Given the description of an element on the screen output the (x, y) to click on. 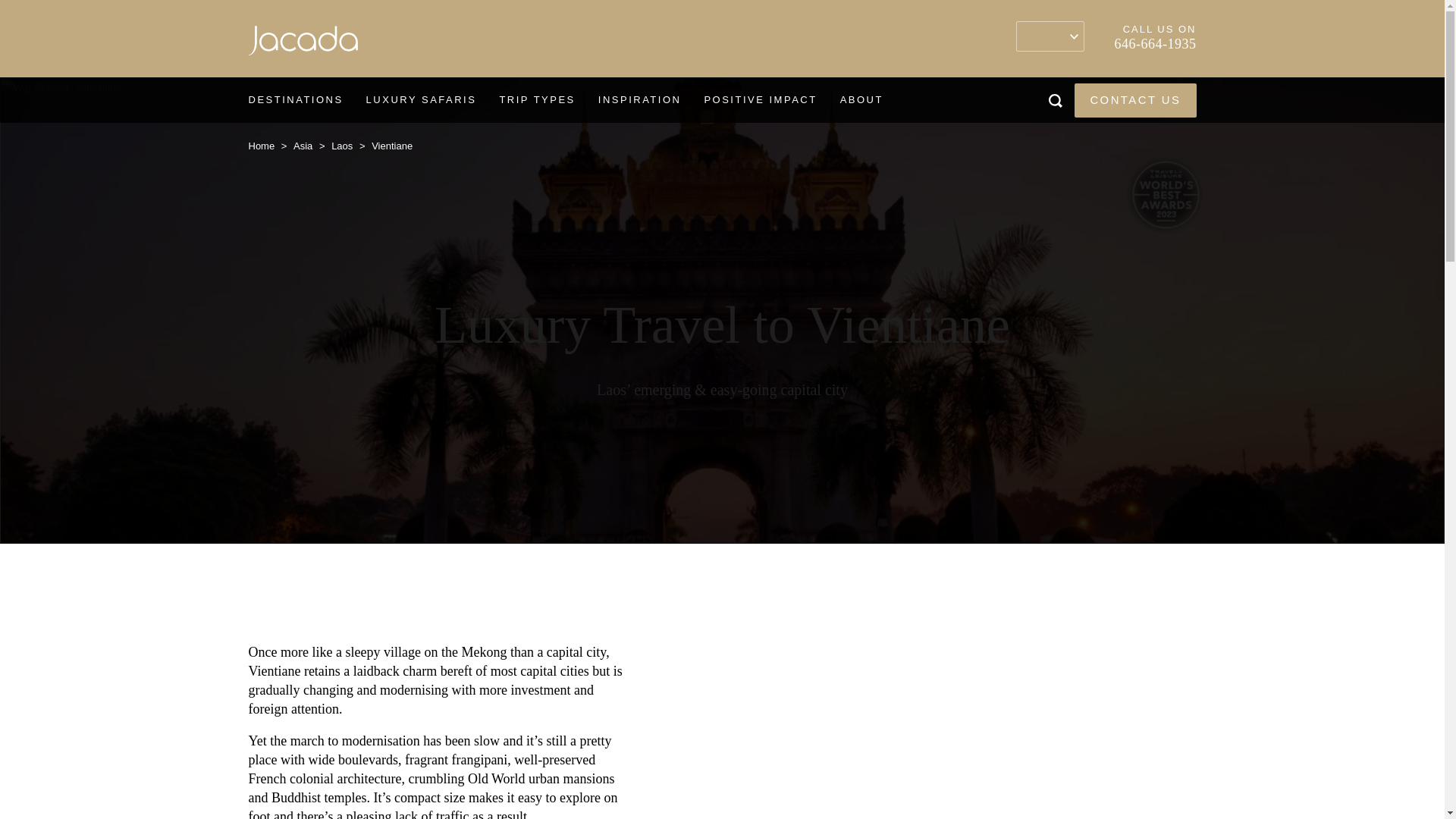
646-664-1935 (1155, 43)
Jacada Travel (303, 43)
DESTINATIONS (294, 99)
